Given the description of an element on the screen output the (x, y) to click on. 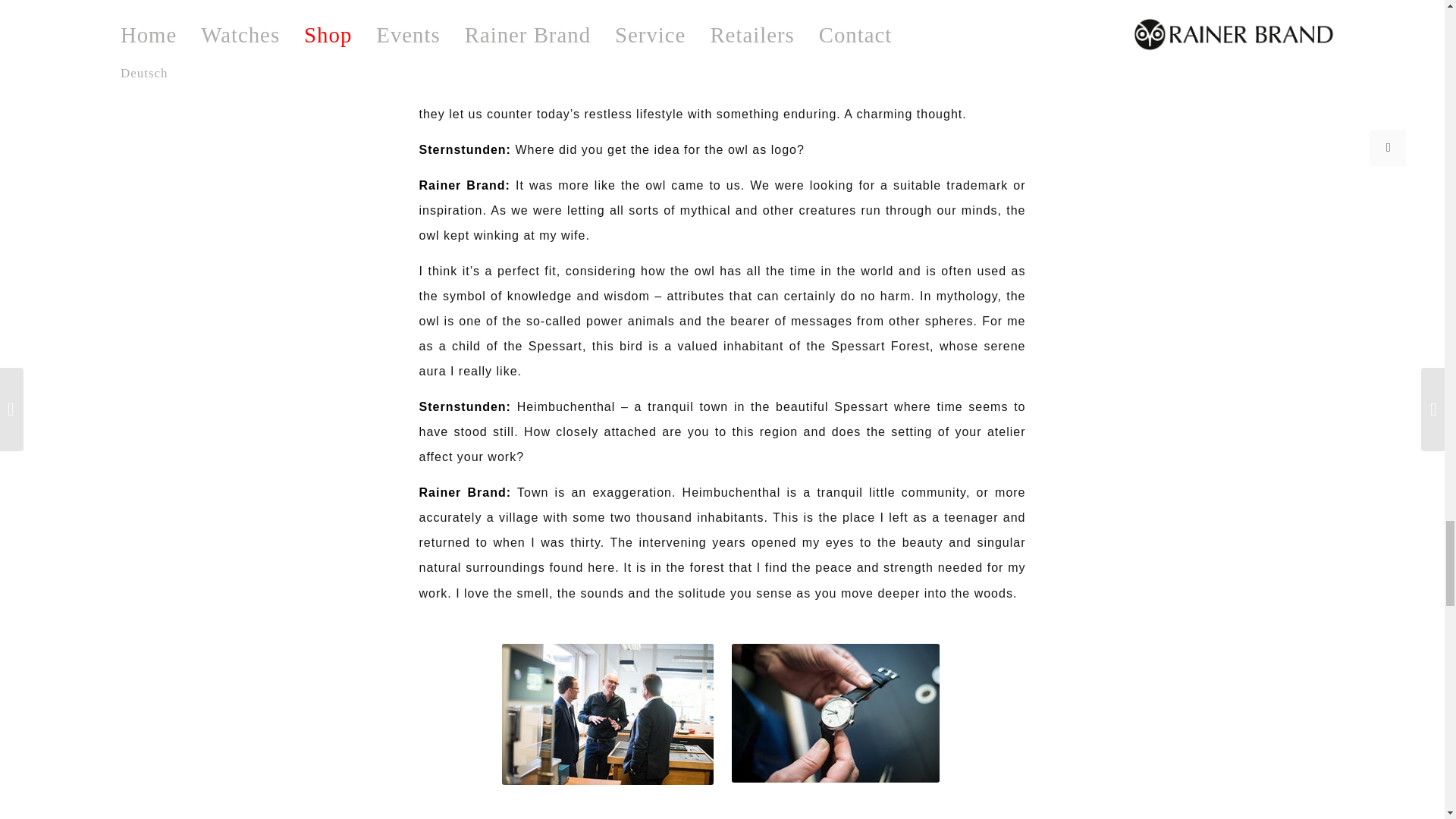
sternstunden-en-6 (834, 712)
sternstunden-en-5 (607, 713)
